Given the description of an element on the screen output the (x, y) to click on. 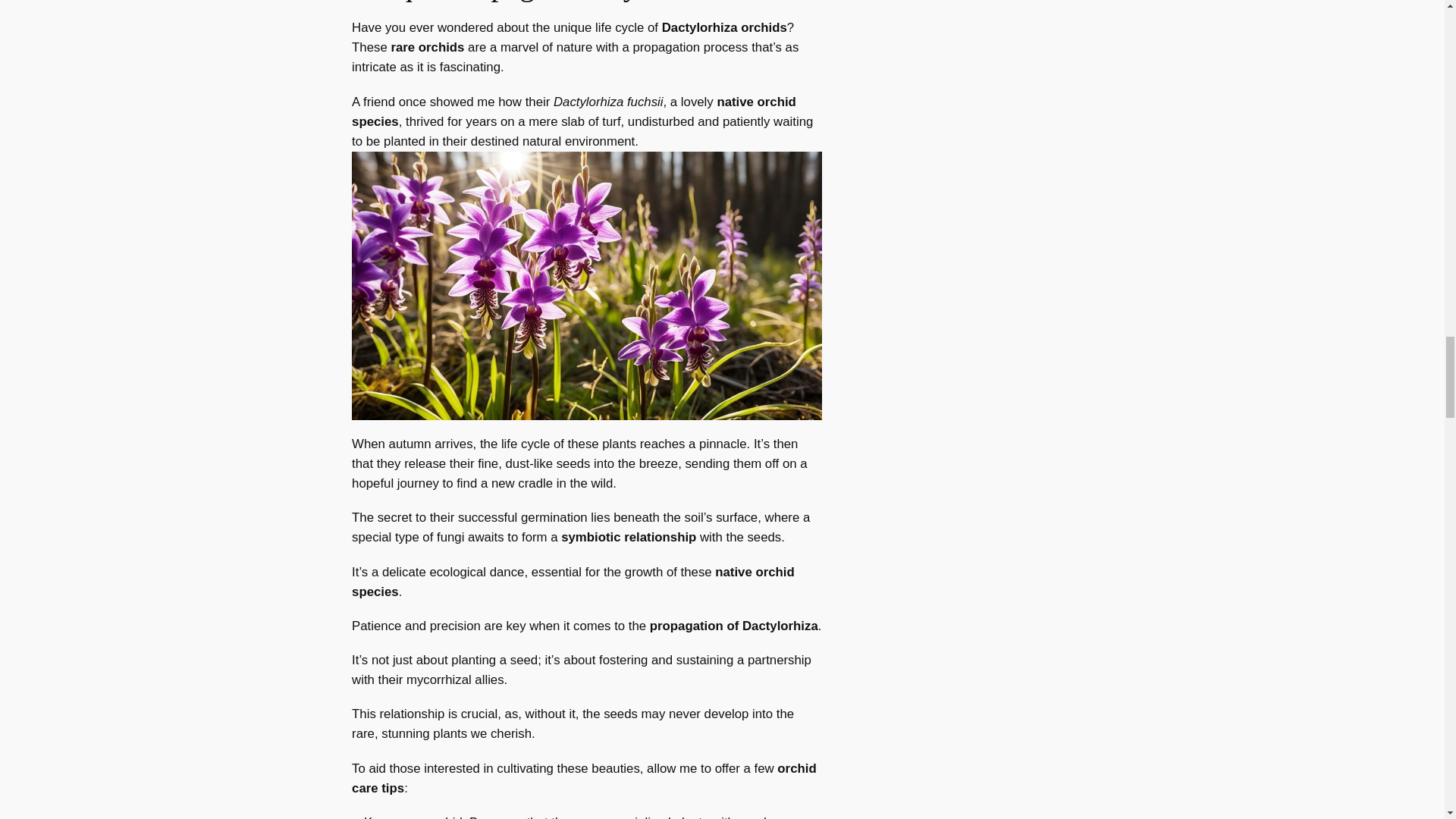
Dactylorhiza orchids propagation (587, 285)
